Given the description of an element on the screen output the (x, y) to click on. 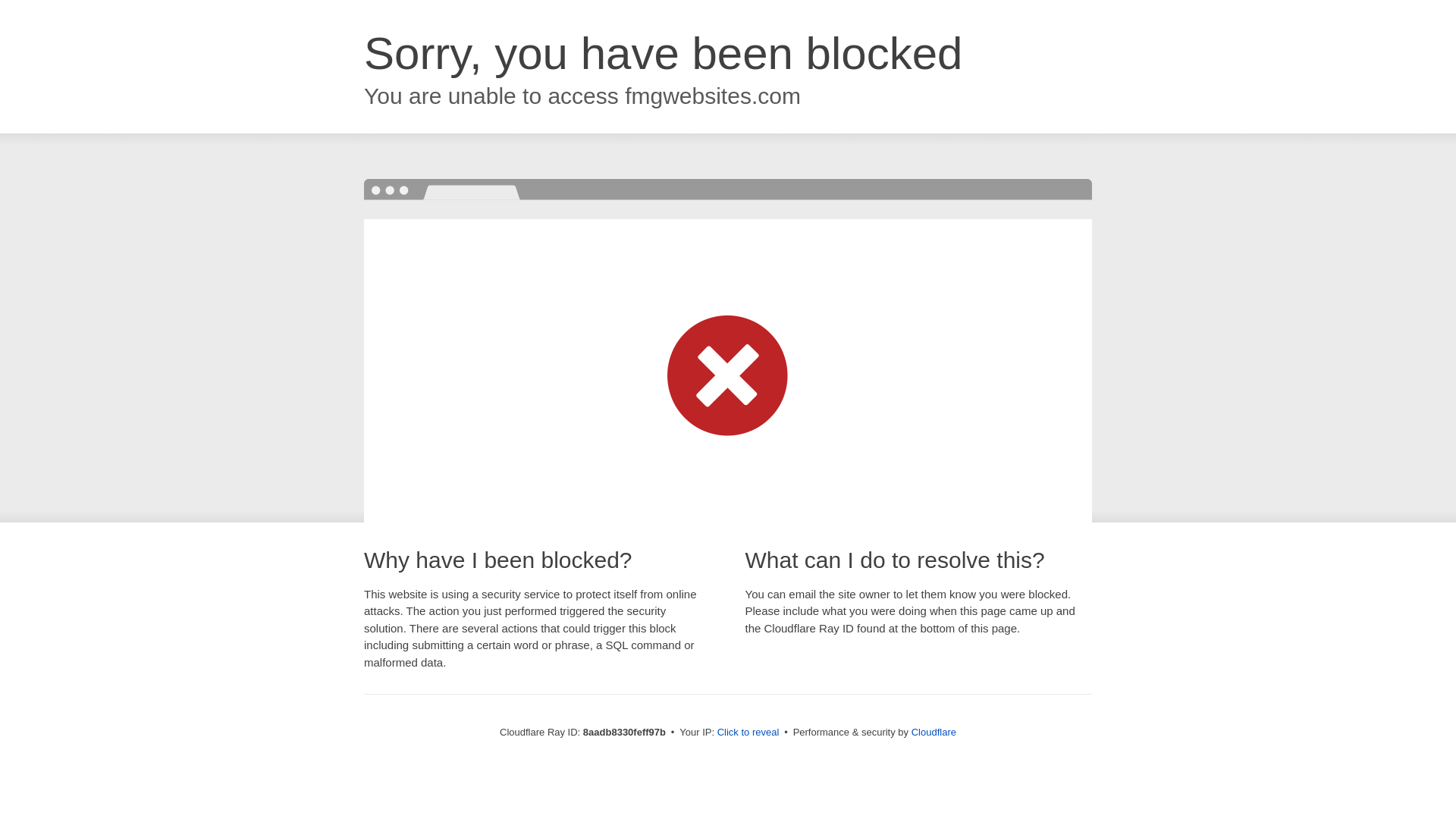
Click to reveal (747, 732)
Cloudflare (933, 731)
